Given the description of an element on the screen output the (x, y) to click on. 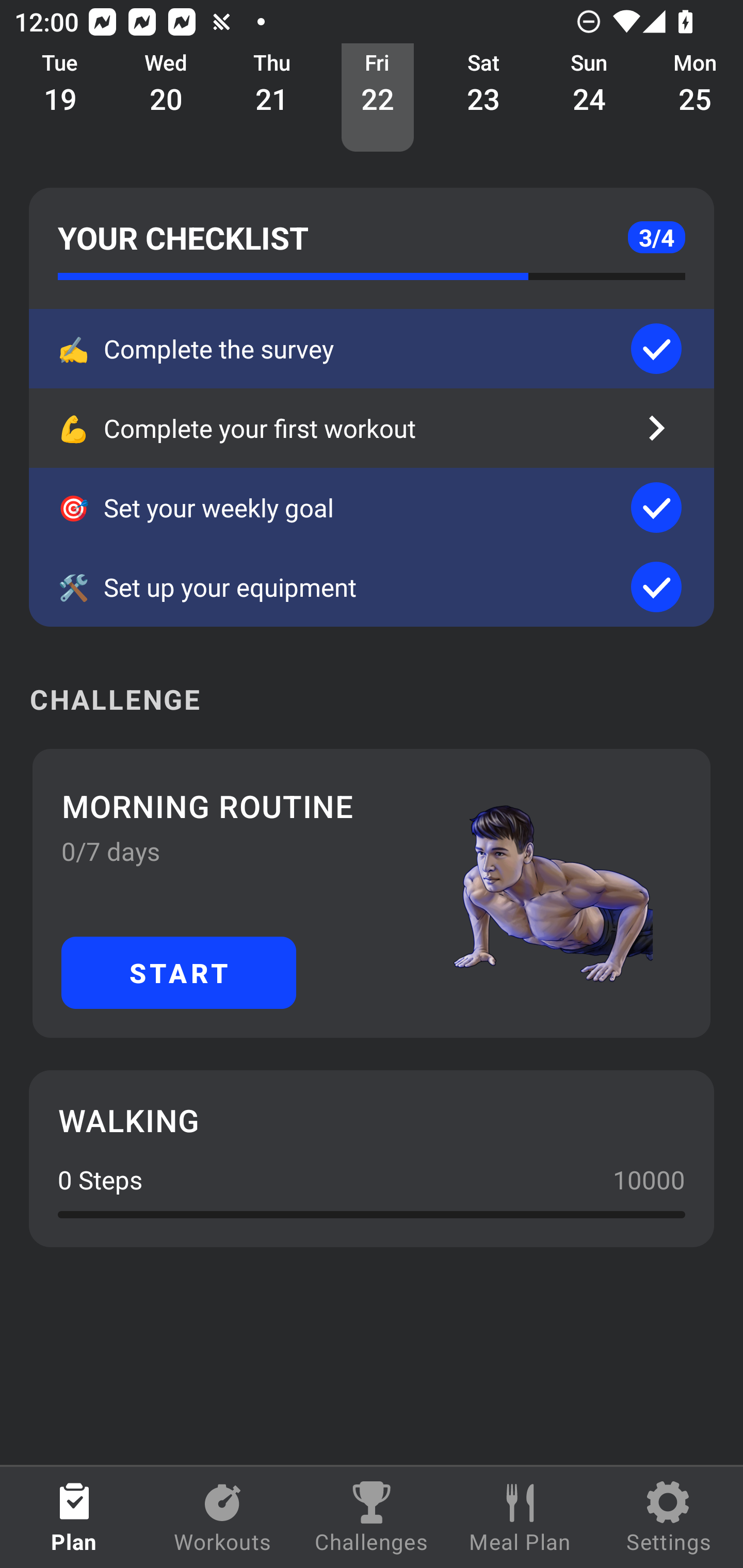
Tue 19 (60, 97)
Wed 20 (166, 97)
Thu 21 (272, 97)
Fri 22 (377, 97)
Sat 23 (483, 97)
Sun 24 (589, 97)
Mon 25 (692, 97)
💪 Complete your first workout (371, 427)
MORNING ROUTINE 0/7 days START (371, 892)
START (178, 972)
WALKING 0 Steps 10000 0.0 (371, 1158)
 Workouts  (222, 1517)
 Challenges  (371, 1517)
 Meal Plan  (519, 1517)
 Settings  (668, 1517)
